Given the description of an element on the screen output the (x, y) to click on. 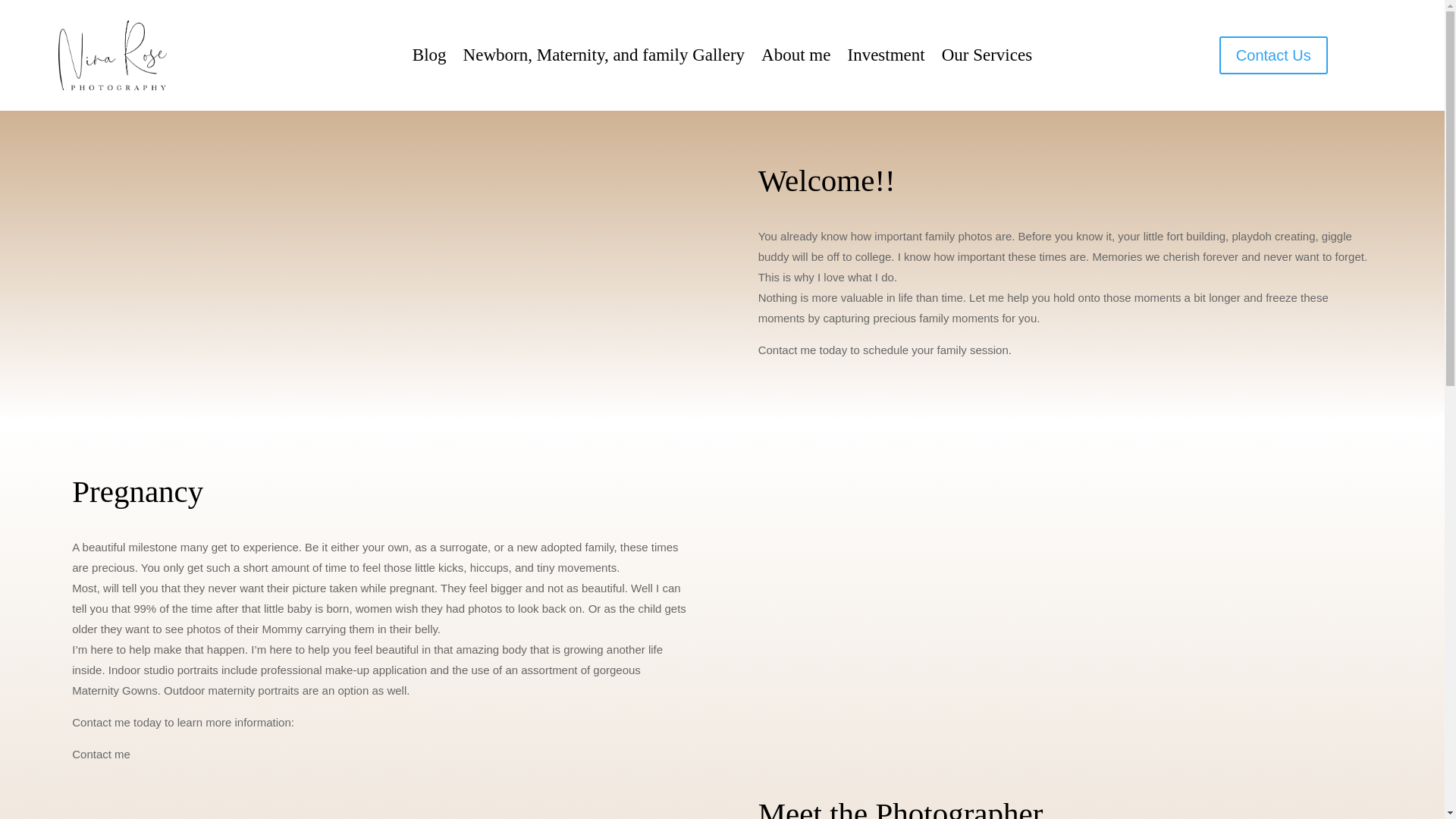
Blog (429, 57)
About me (795, 57)
Our Services (987, 57)
Contact Us (1273, 55)
Investment (885, 57)
Newborn, Maternity, and family Gallery (604, 57)
